Given the description of an element on the screen output the (x, y) to click on. 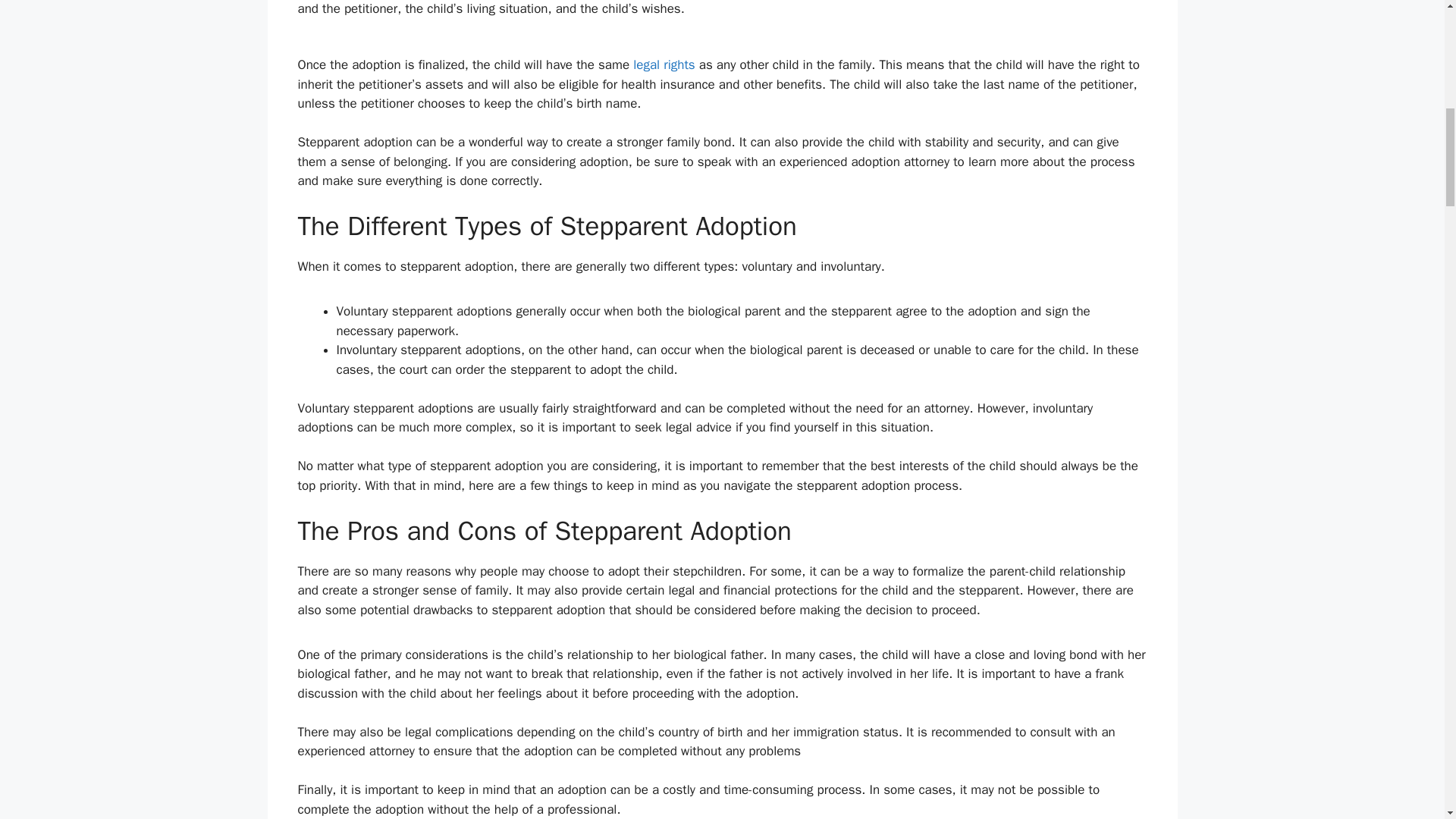
legal rights (663, 64)
